Given the description of an element on the screen output the (x, y) to click on. 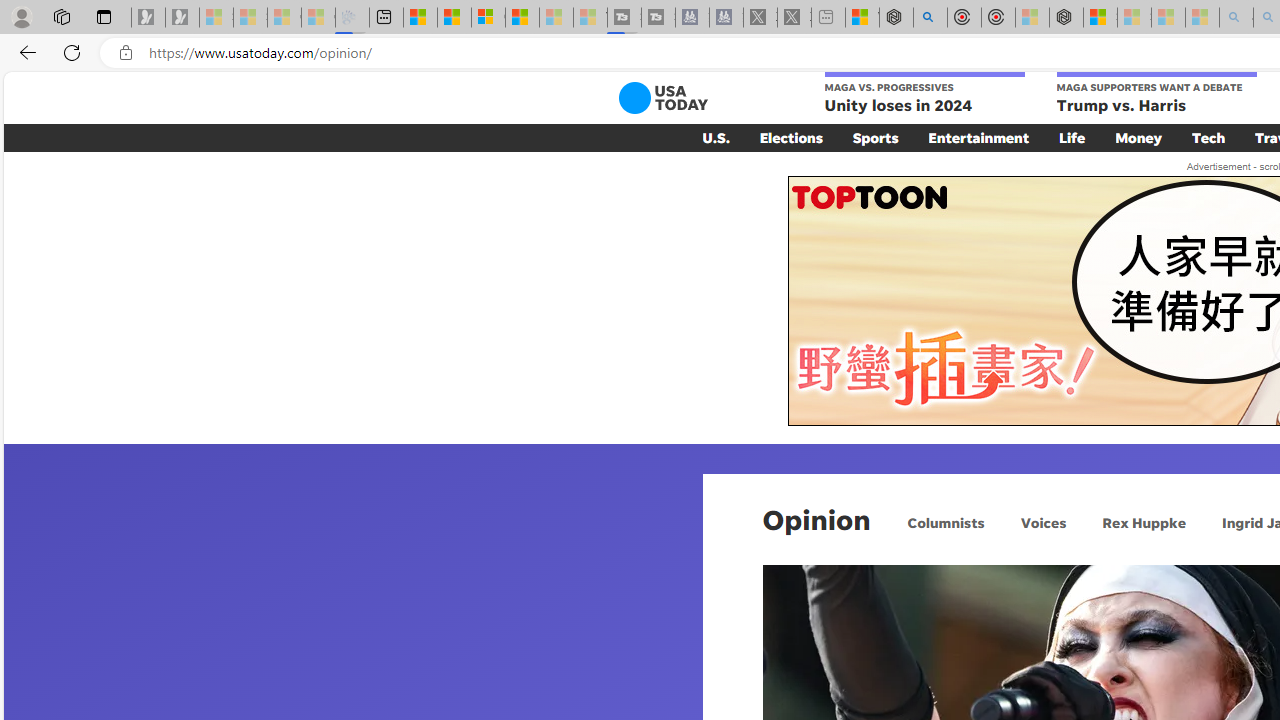
Streaming Coverage | T3 - Sleeping (624, 17)
X - Sleeping (794, 17)
New tab - Sleeping (827, 17)
Class: gnt_n_lg_svg (662, 97)
Columnists (945, 521)
Life (1072, 137)
